Given the description of an element on the screen output the (x, y) to click on. 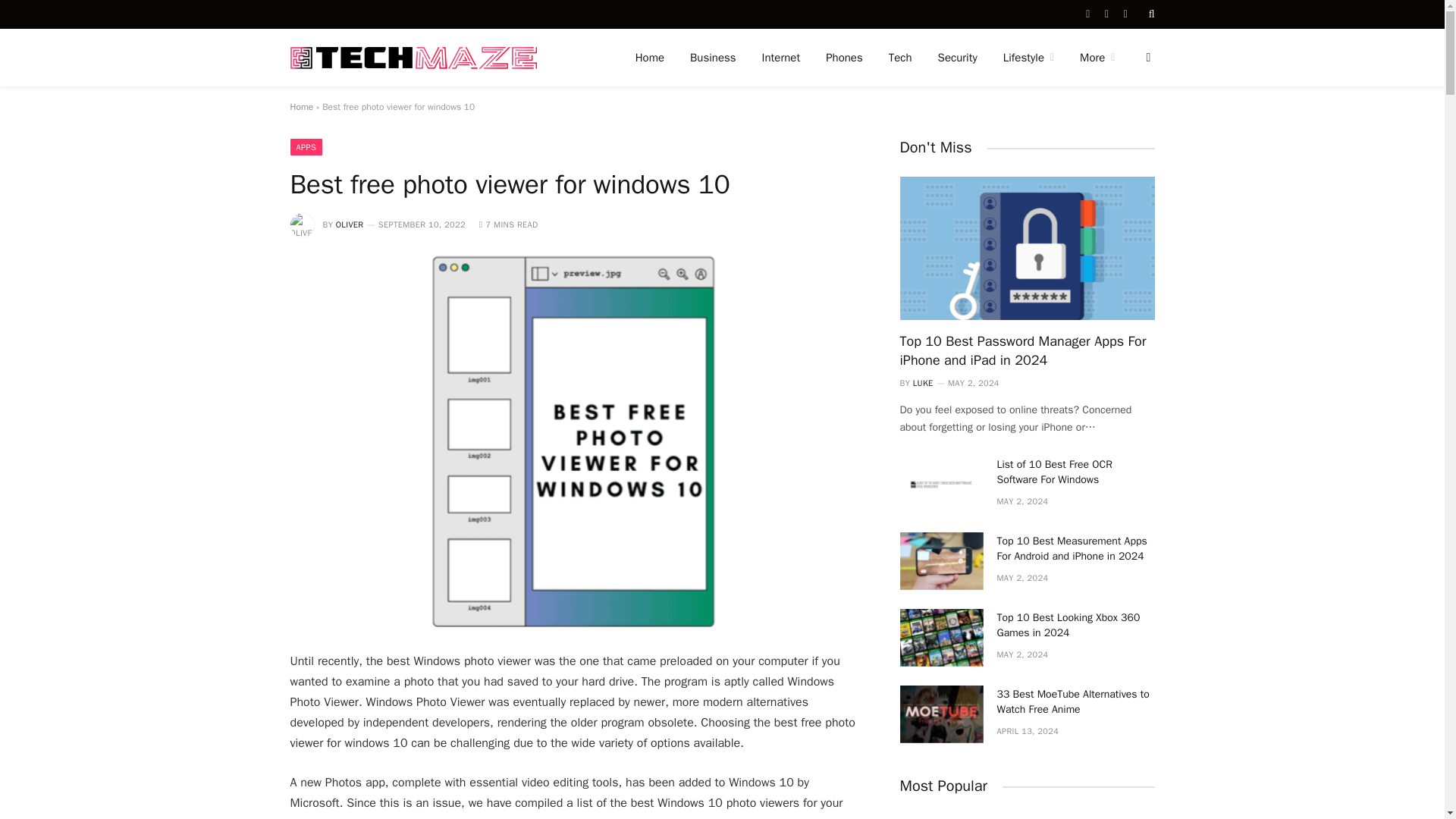
More (1096, 57)
TechMaze (412, 57)
Security (957, 57)
Business (713, 57)
APPS (305, 146)
Home (301, 106)
Home (650, 57)
Switch to Dark Design - easier on eyes. (1146, 57)
OLIVER (350, 224)
Posts by Oliver (350, 224)
Internet (781, 57)
Lifestyle (1028, 57)
Phones (844, 57)
